Given the description of an element on the screen output the (x, y) to click on. 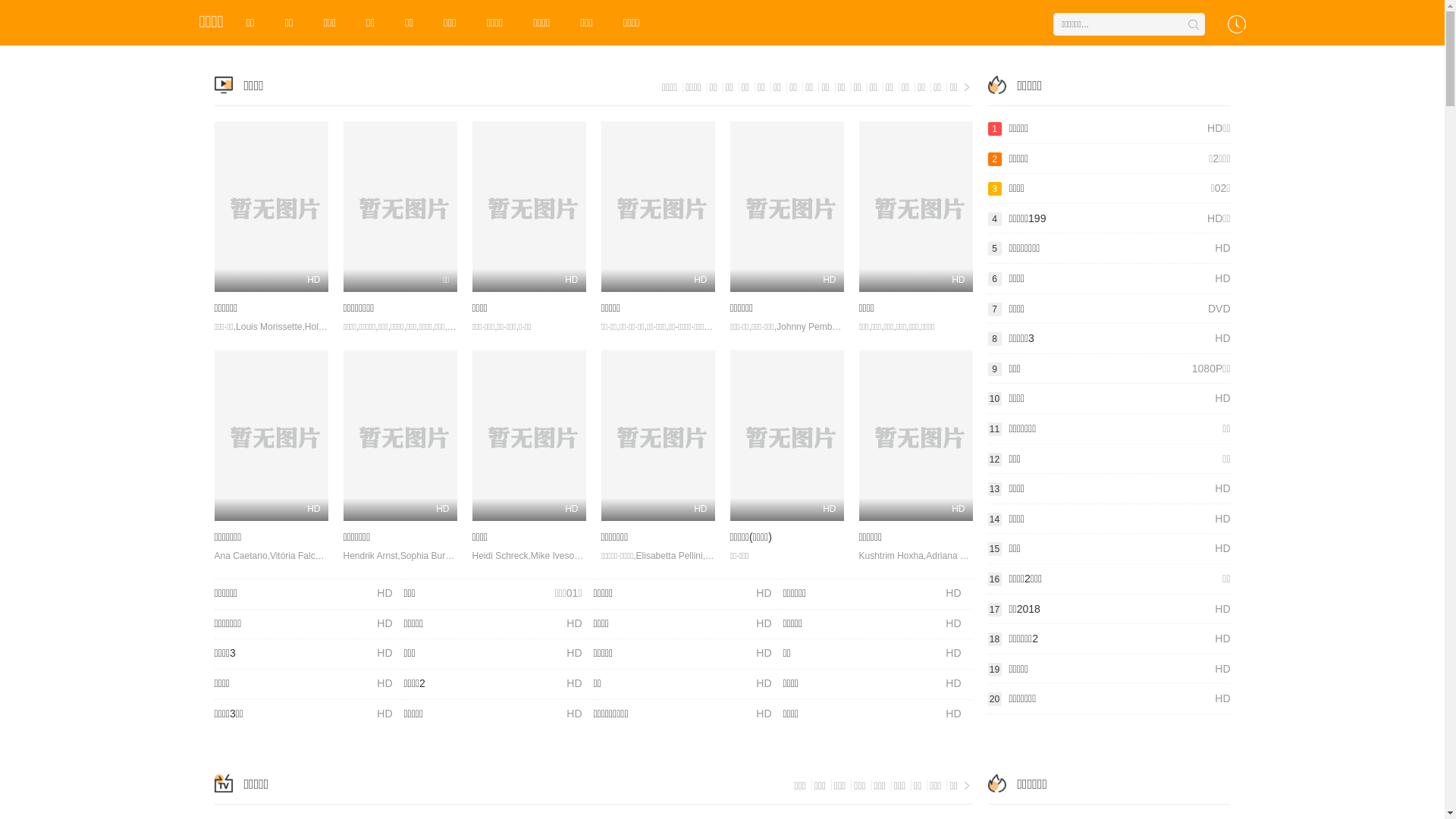
HD Element type: text (786, 435)
HD Element type: text (270, 435)
HD Element type: text (786, 206)
HD Element type: text (915, 435)
HD Element type: text (528, 435)
HD Element type: text (270, 206)
HD Element type: text (399, 435)
HD Element type: text (915, 206)
HD Element type: text (657, 206)
HD Element type: text (528, 206)
HD Element type: text (657, 435)
